Given the description of an element on the screen output the (x, y) to click on. 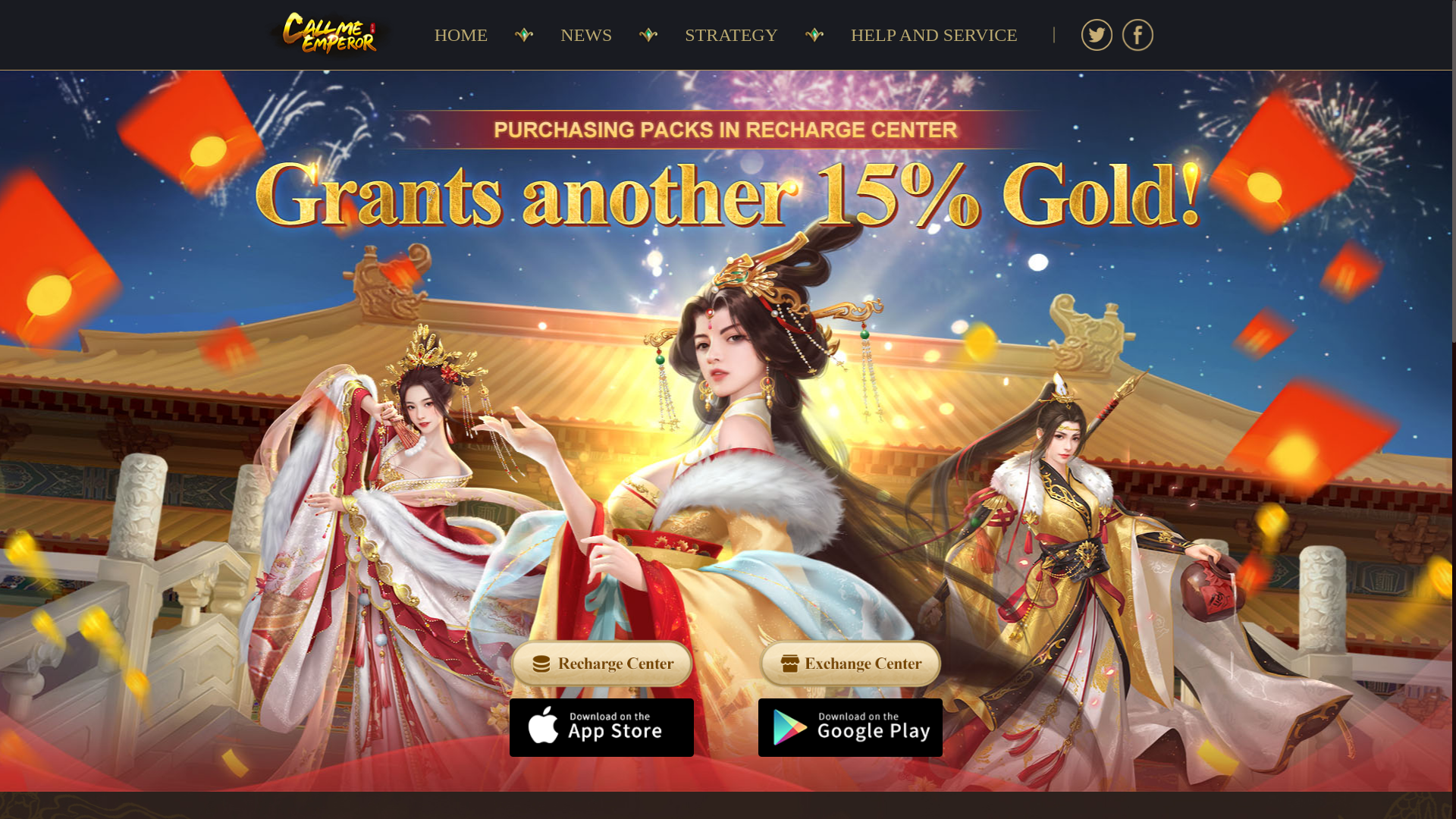
HELP AND SERVICE Element type: text (934, 34)
NEWS Element type: text (586, 34)
HOME Element type: text (461, 34)
STRATEGY Element type: text (731, 34)
